Given the description of an element on the screen output the (x, y) to click on. 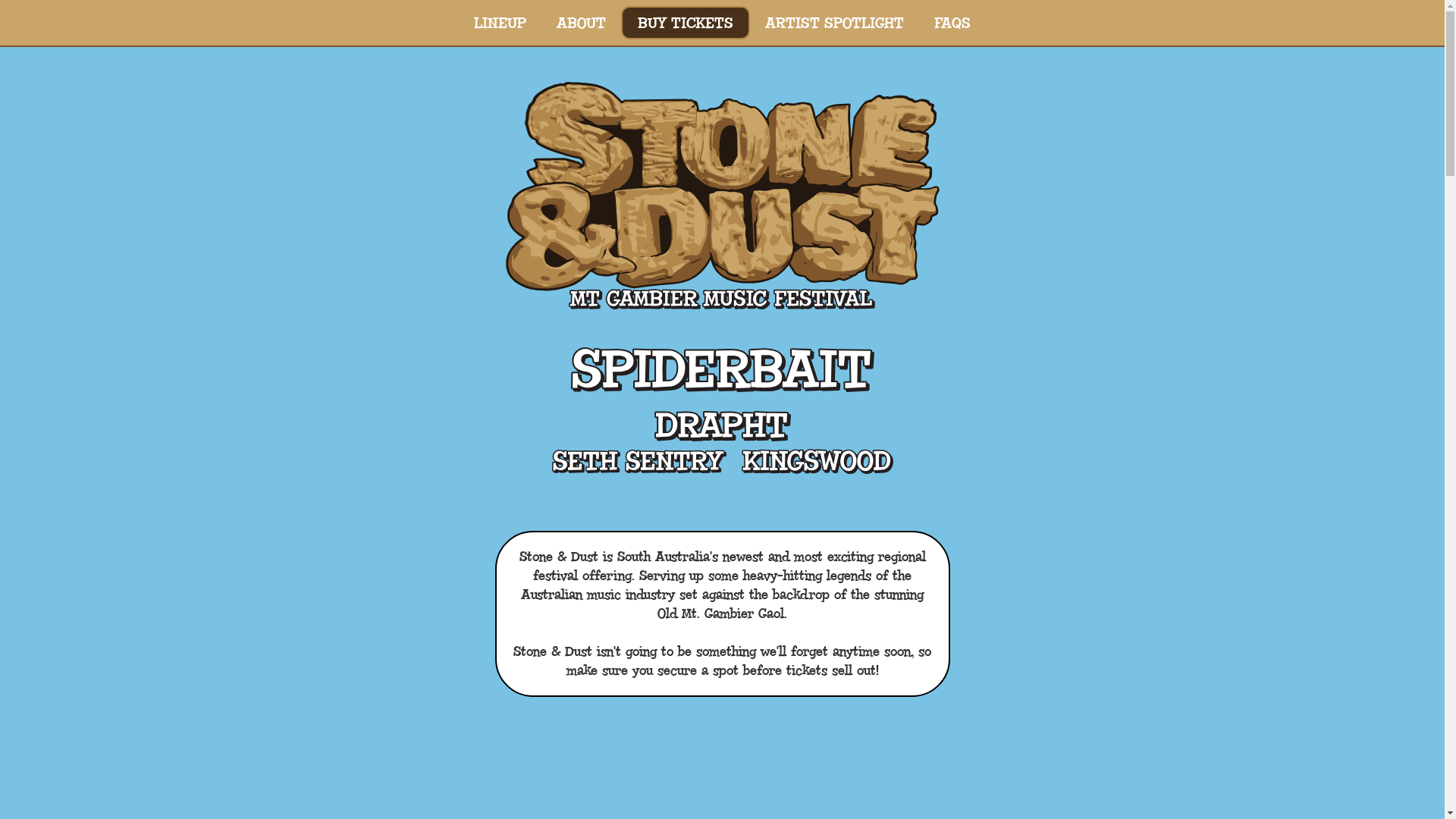
LINEUP Element type: text (499, 22)
BUY TICKETS Element type: text (685, 22)
FAQS Element type: text (952, 22)
ARTIST SPOTLIGHT Element type: text (834, 22)
ABOUT Element type: text (581, 22)
